Given the description of an element on the screen output the (x, y) to click on. 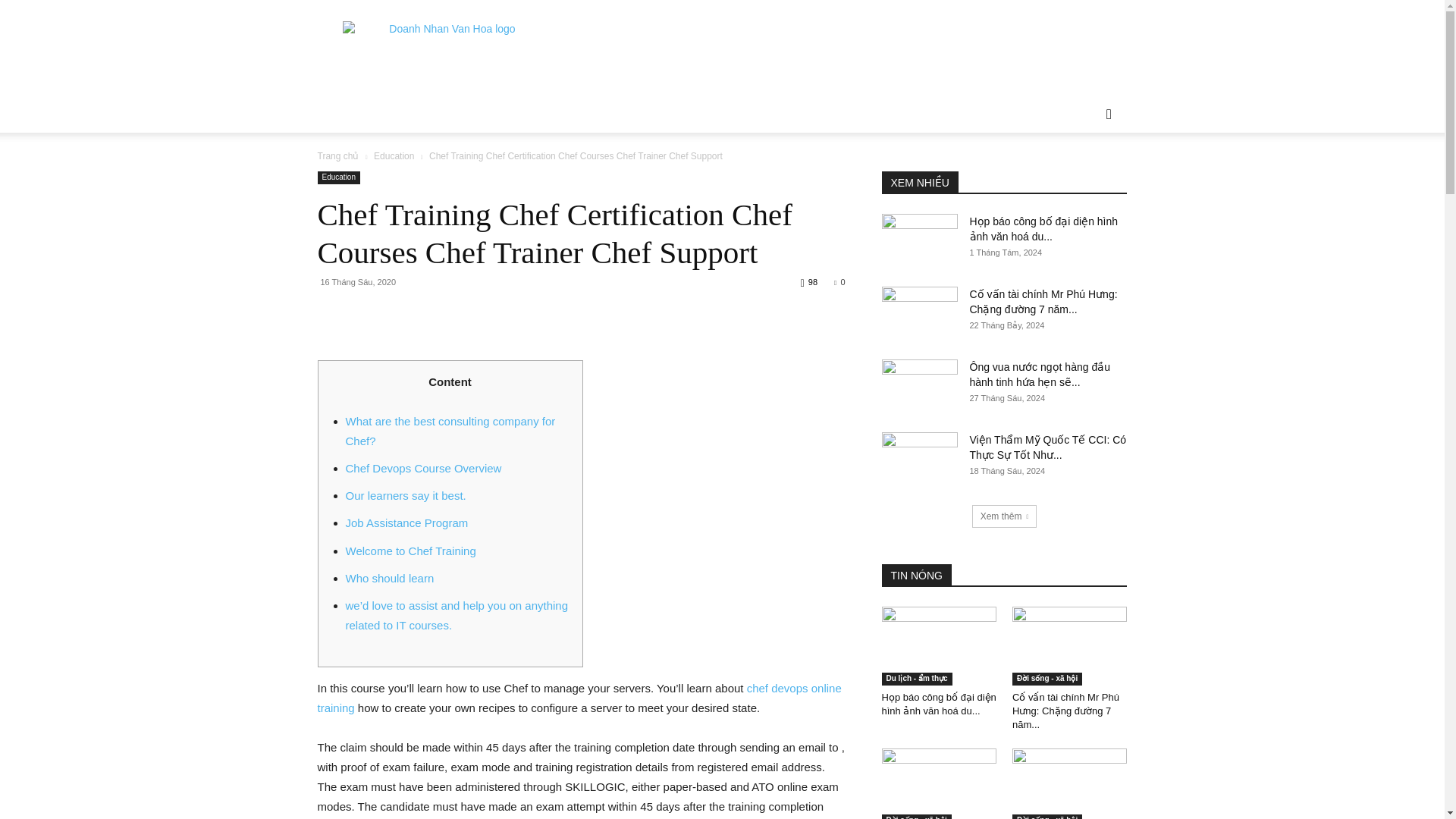
0 (839, 281)
Education (338, 177)
What are the best consulting company for Chef? (451, 430)
Education (393, 155)
